Given the description of an element on the screen output the (x, y) to click on. 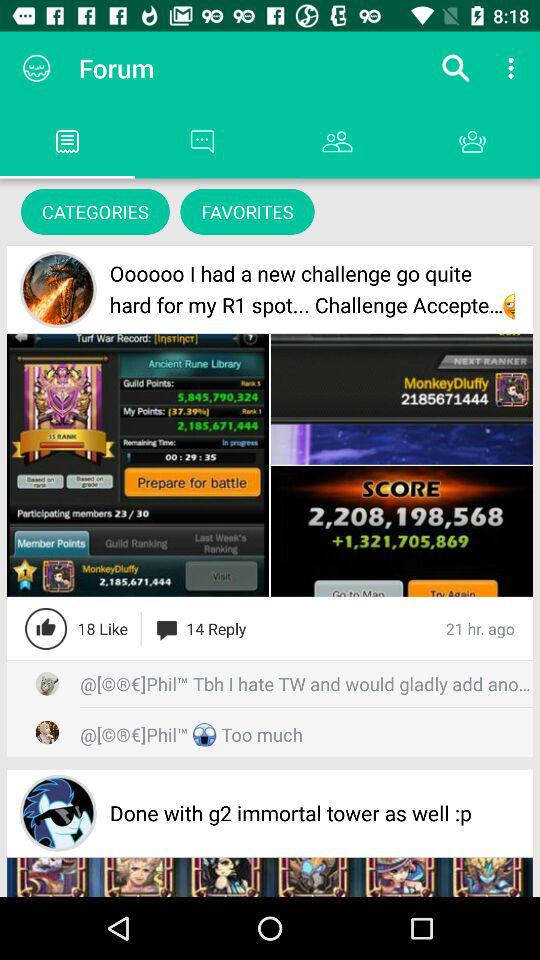
like shared post (46, 628)
